Given the description of an element on the screen output the (x, y) to click on. 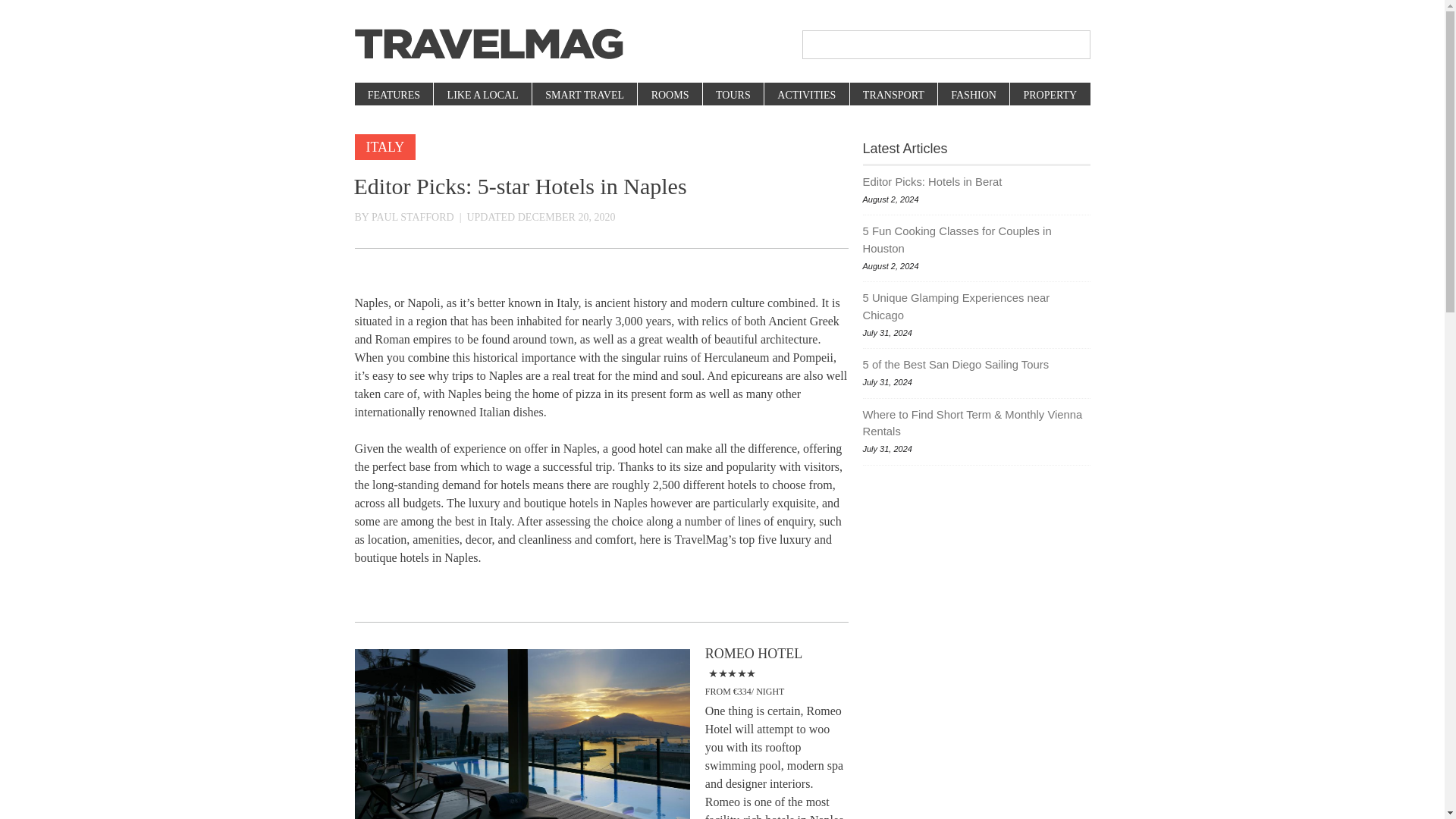
Editor Picks: Hotels in Berat (976, 181)
5 of the Best San Diego Sailing Tours (976, 364)
TravelMag (489, 43)
ACTIVITIES (805, 95)
TOURS (731, 95)
5 Fun Cooking Classes for Couples in Houston (976, 239)
LIKE A LOCAL (481, 95)
SMART TRAVEL (584, 95)
5 Unique Glamping Experiences near Chicago (976, 306)
FEATURES (394, 95)
TRANSPORT (892, 95)
FASHION (973, 95)
ROOMS (669, 95)
PROPERTY (1049, 95)
